Given the description of an element on the screen output the (x, y) to click on. 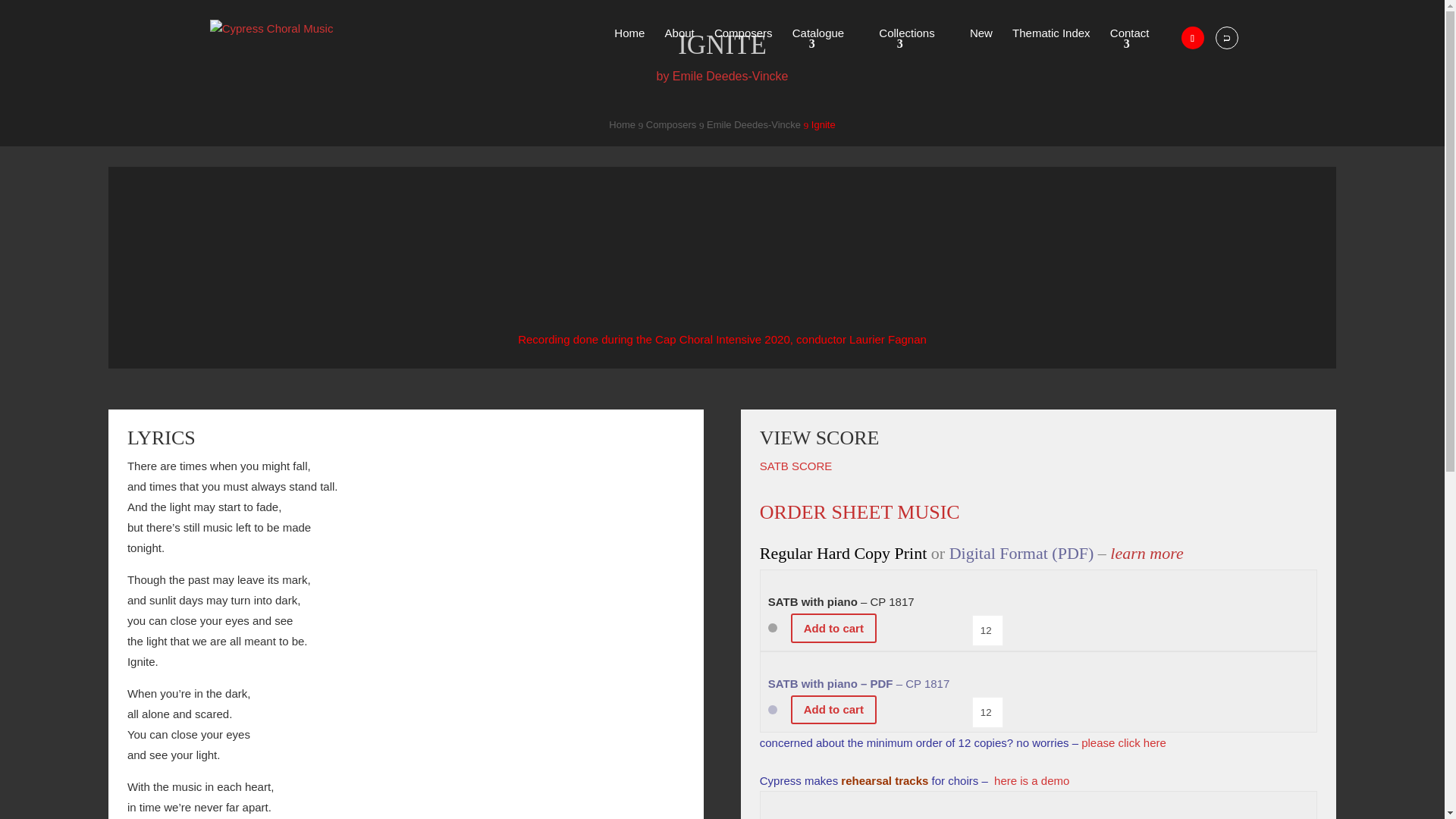
Composers (743, 46)
12 (987, 630)
Catalogue (825, 46)
Collections (914, 46)
12 (987, 711)
